Given the description of an element on the screen output the (x, y) to click on. 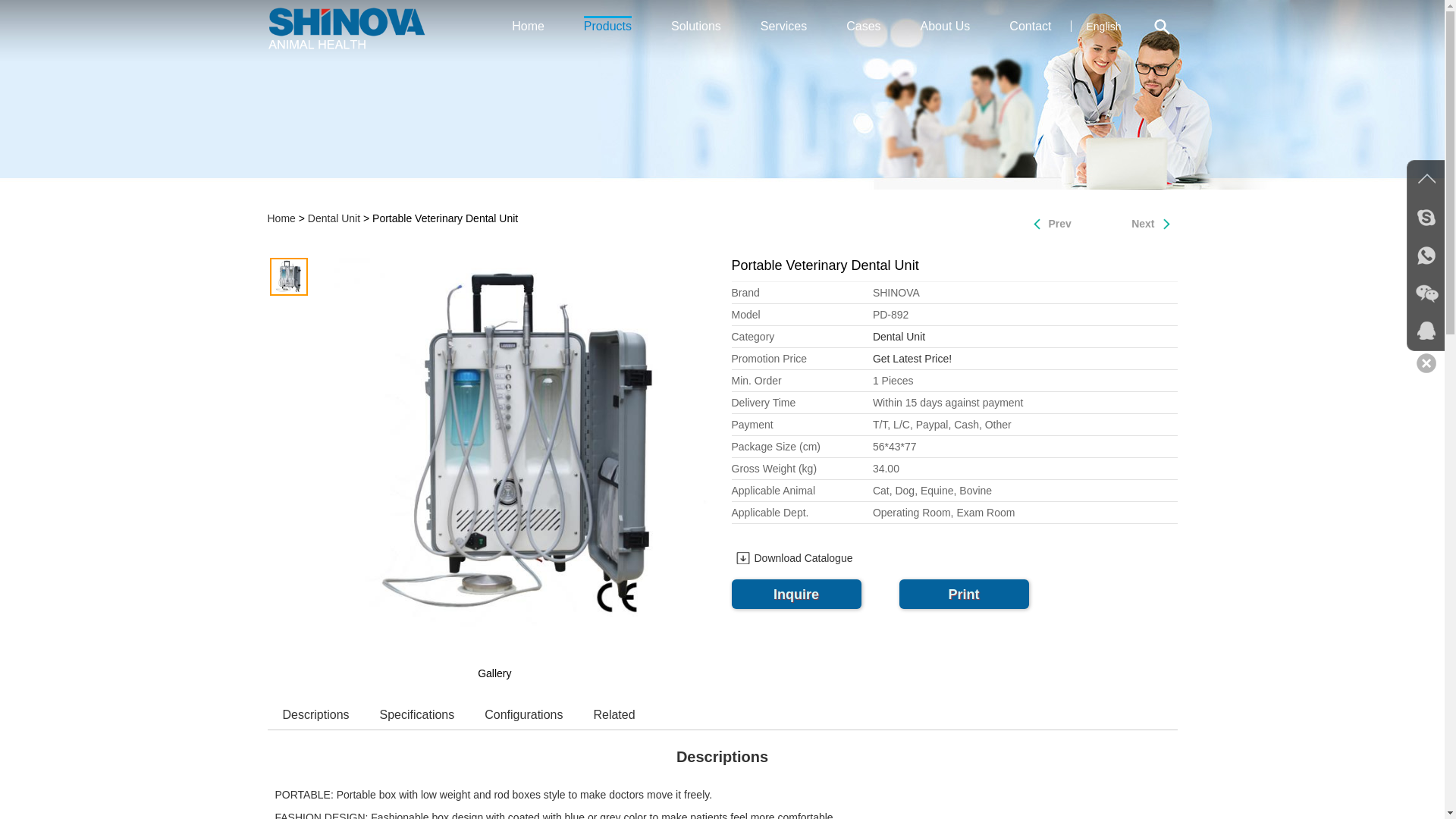
Products (607, 26)
About Us (945, 26)
Specifications (417, 714)
Configurations (523, 714)
Home (280, 218)
Get Latest Price! (912, 358)
Download Catalogue (790, 558)
Cases (862, 26)
Services (783, 26)
Inquire (795, 594)
Next (1153, 223)
Solutions (695, 26)
Dental Unit (333, 218)
Print (964, 594)
